Given the description of an element on the screen output the (x, y) to click on. 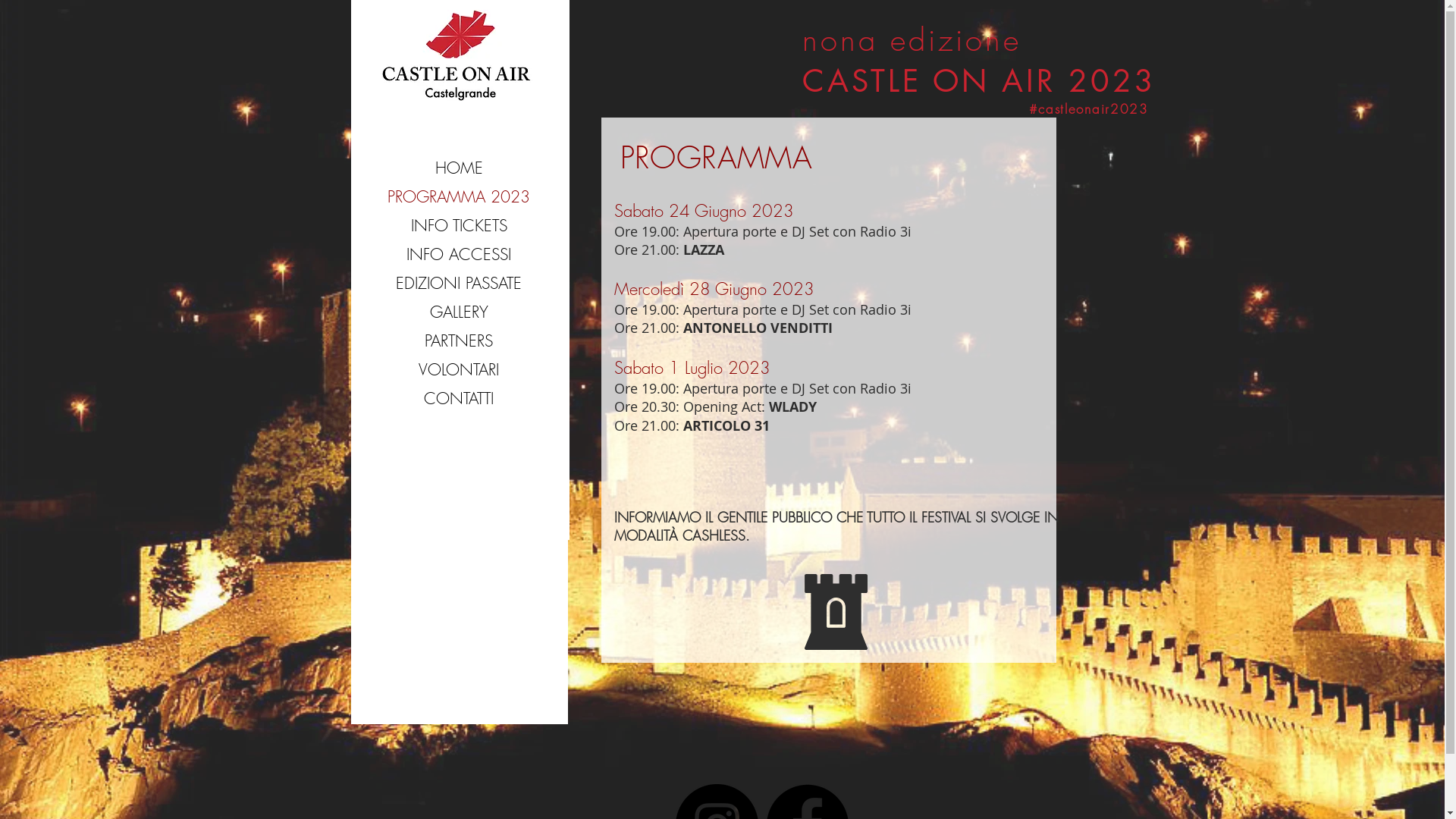
INFO TICKETS Element type: text (458, 225)
LOGOCASTLE.jpg Element type: hover (456, 54)
INFO ACCESSI Element type: text (458, 254)
CONTATTI Element type: text (458, 398)
HOME Element type: text (458, 167)
GALLERY Element type: text (458, 312)
PROGRAMMA 2023 Element type: text (458, 196)
EDIZIONI PASSATE Element type: text (458, 283)
PARTNERS Element type: text (458, 340)
VOLONTARI Element type: text (458, 369)
